Given the description of an element on the screen output the (x, y) to click on. 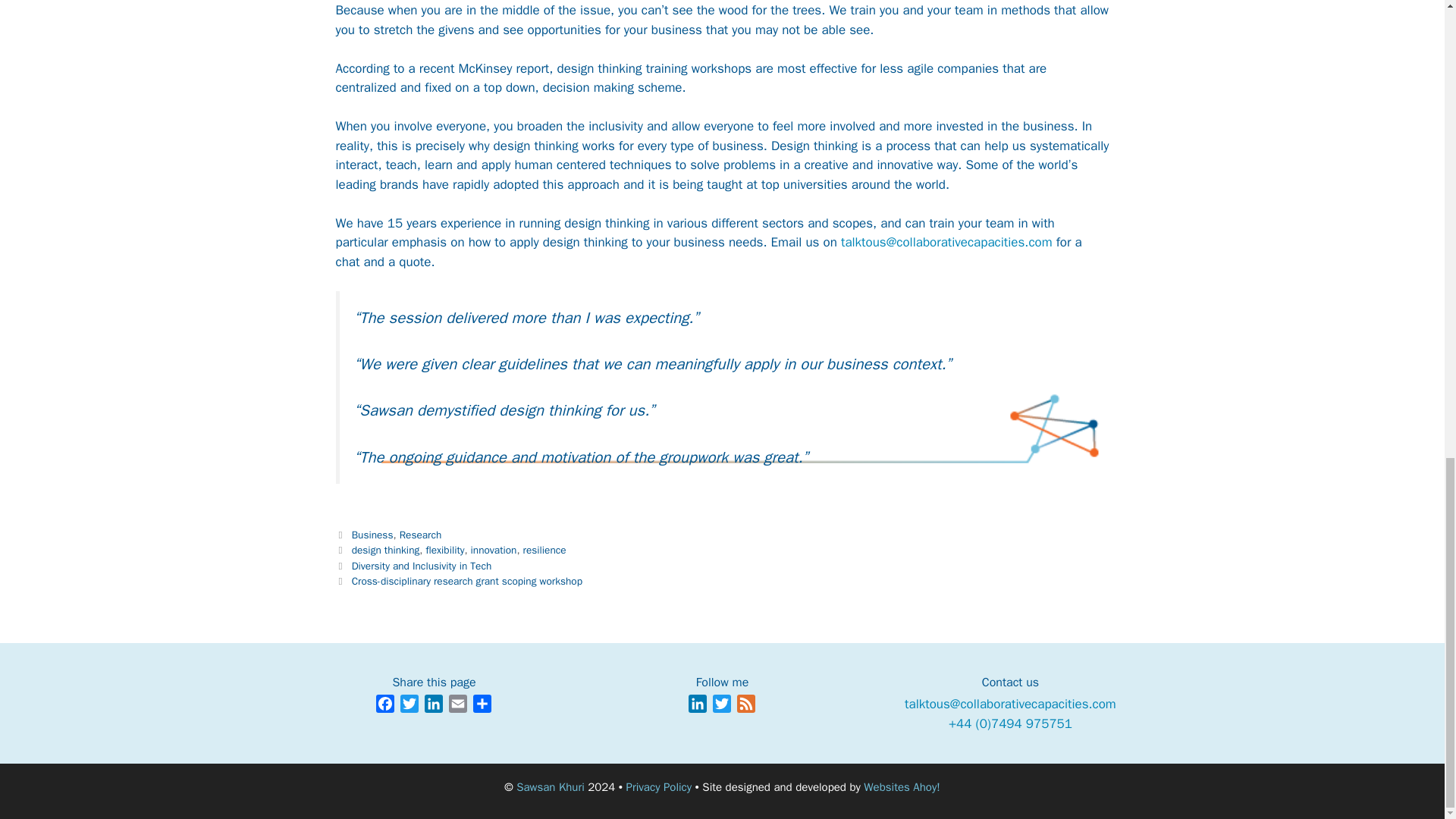
LinkedIn (433, 706)
Email (457, 706)
Websites Ahoy! (901, 786)
Cross-disciplinary research grant scoping workshop (467, 581)
RSS Feed (745, 706)
Twitter (721, 706)
LinkedIn (697, 706)
Email (457, 706)
Sawsan Khuri (550, 786)
Business (372, 534)
Twitter (721, 706)
Research (420, 534)
design thinking (386, 549)
Privacy Policy (659, 786)
Twitter (409, 706)
